Given the description of an element on the screen output the (x, y) to click on. 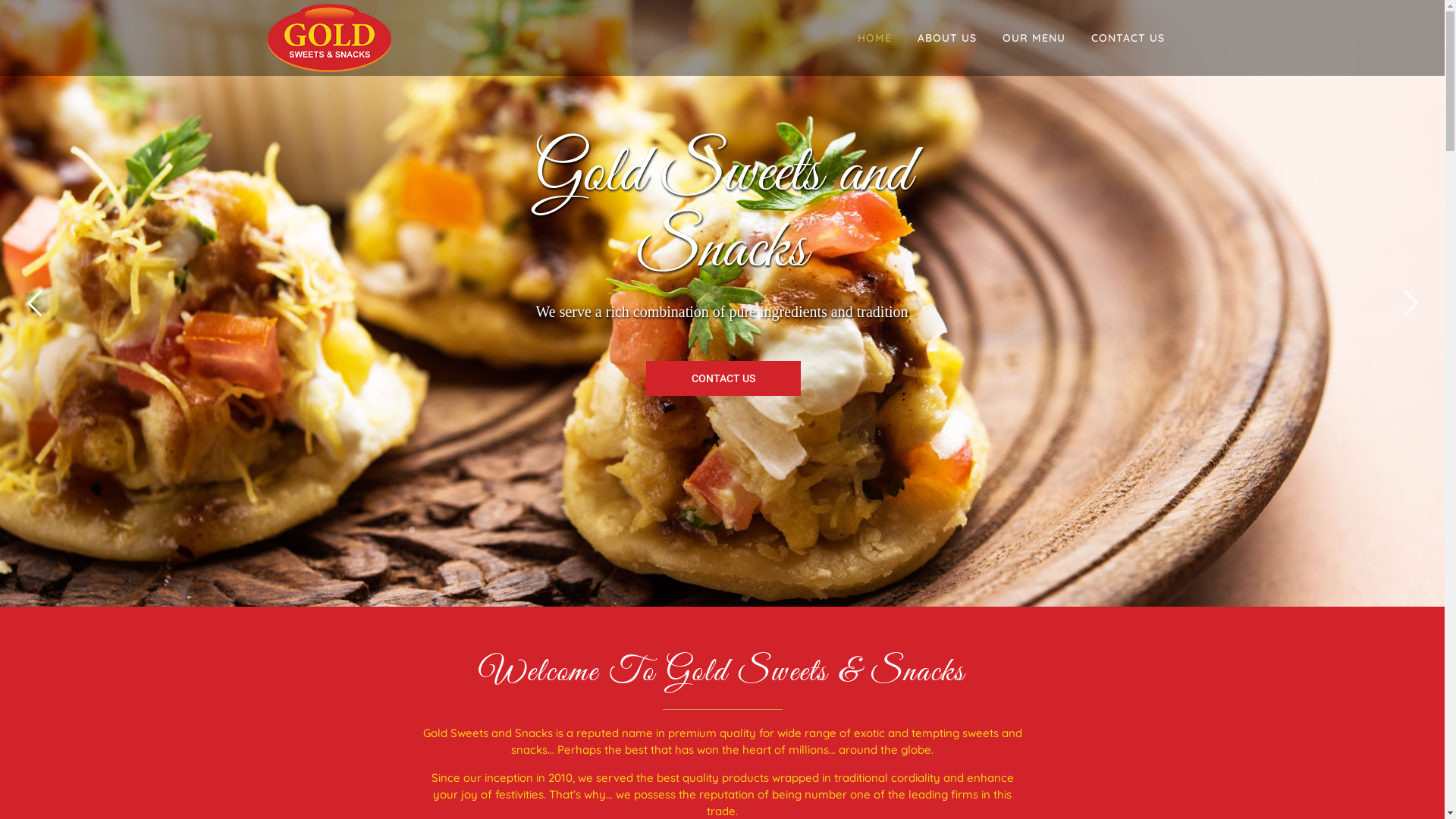
HOME Element type: text (874, 37)
CONTACT US Element type: text (1127, 37)
ABOUT US Element type: text (945, 37)
OUR MENU Element type: text (1032, 37)
